Given the description of an element on the screen output the (x, y) to click on. 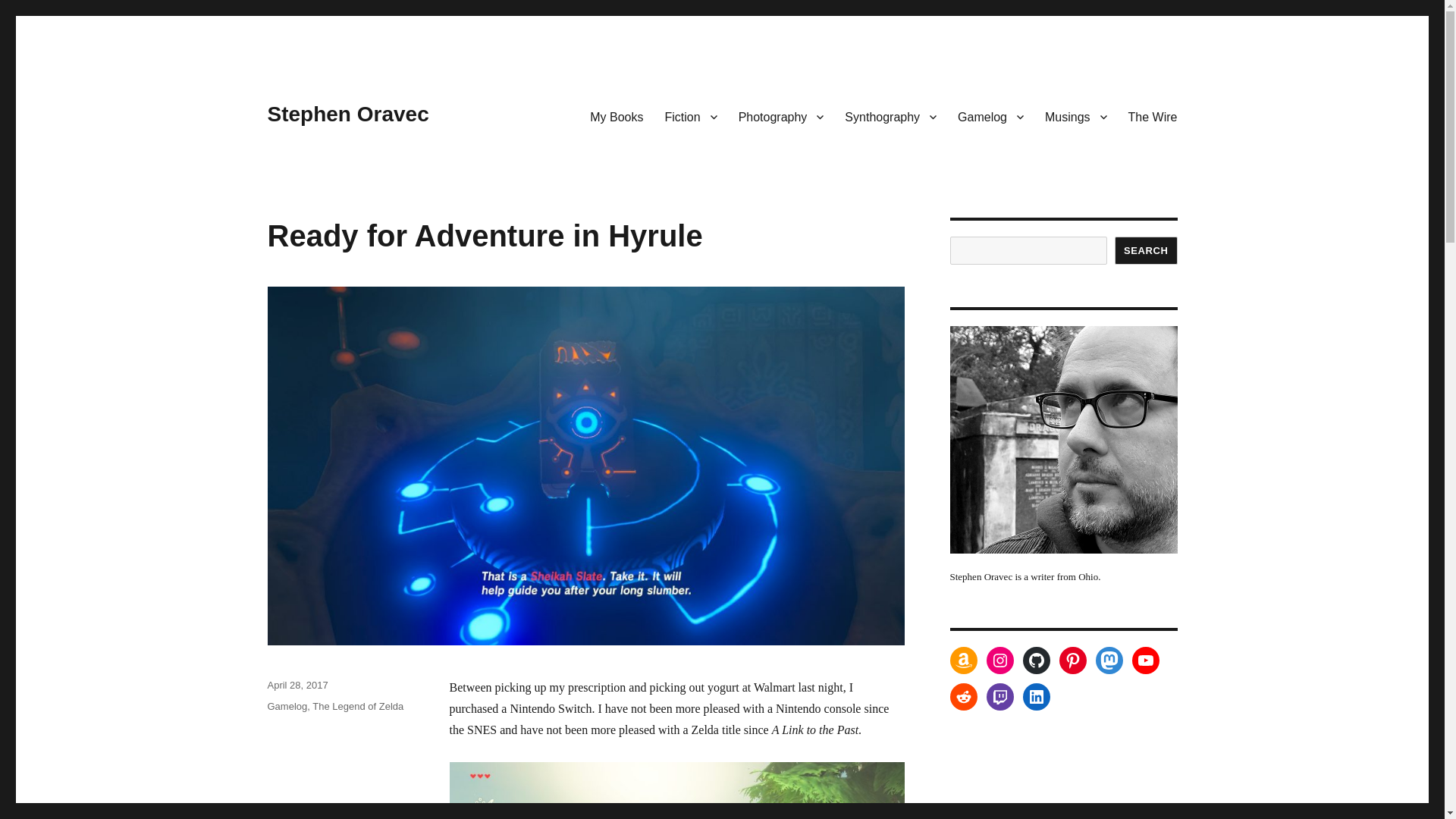
Synthography (890, 116)
Gamelog (990, 116)
Stephen Oravec (347, 114)
Musings (1075, 116)
Fiction (689, 116)
Photography (781, 116)
My Books (616, 116)
